Given the description of an element on the screen output the (x, y) to click on. 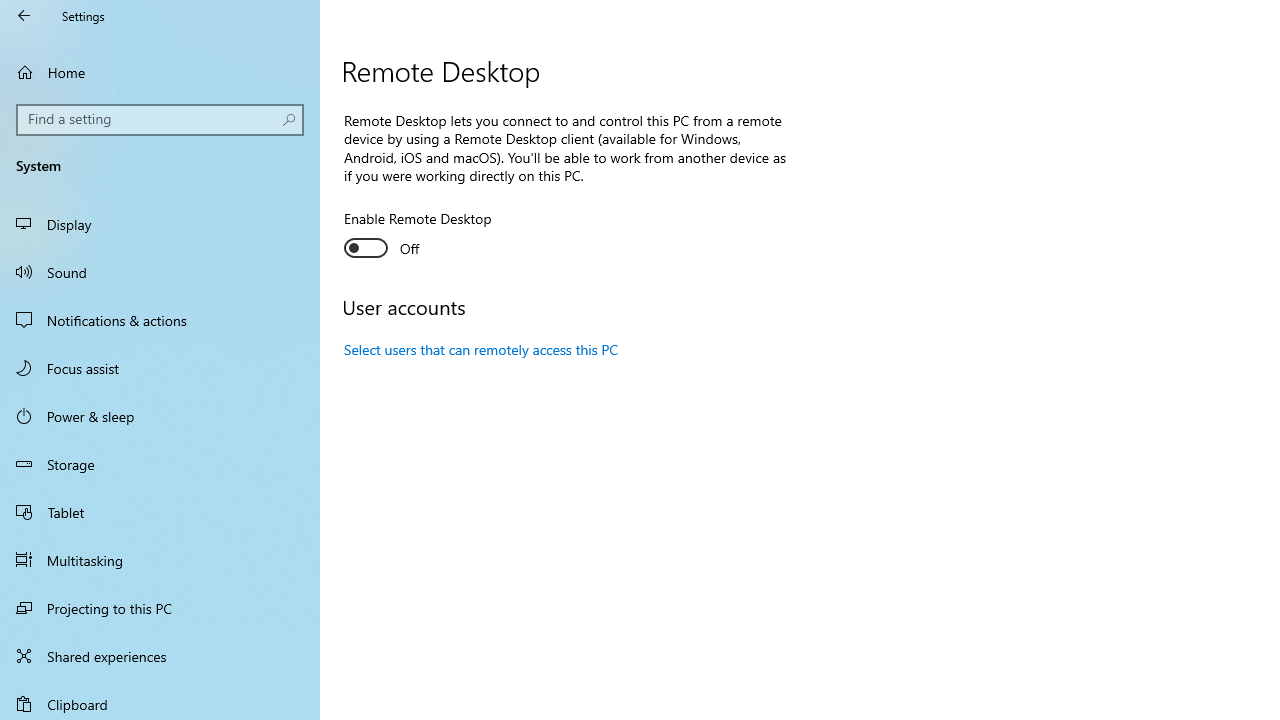
Tablet (160, 511)
Notifications & actions (160, 319)
Power & sleep (160, 415)
Search box, Find a setting (160, 119)
Home (160, 71)
Storage (160, 463)
Select users that can remotely access this PC (481, 349)
Display (160, 223)
Shared experiences (160, 655)
Focus assist (160, 367)
Multitasking (160, 559)
Projecting to this PC (160, 607)
Sound (160, 271)
Enable Remote Desktop (417, 236)
Back (24, 15)
